Given the description of an element on the screen output the (x, y) to click on. 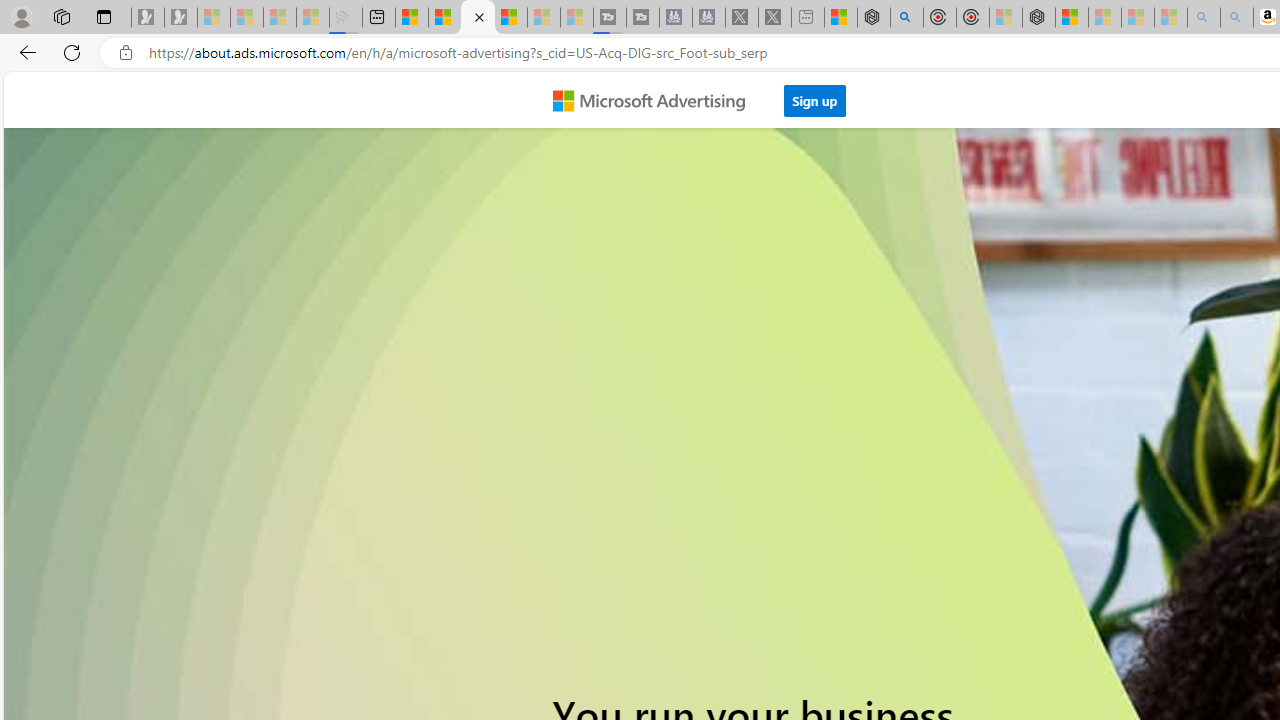
X - Sleeping (775, 17)
Nordace - Nordace Siena Is Not An Ordinary Backpack (1038, 17)
Sign up (815, 100)
Overview (478, 17)
amazon - Search - Sleeping (1203, 17)
Wildlife - MSN (841, 17)
